Given the description of an element on the screen output the (x, y) to click on. 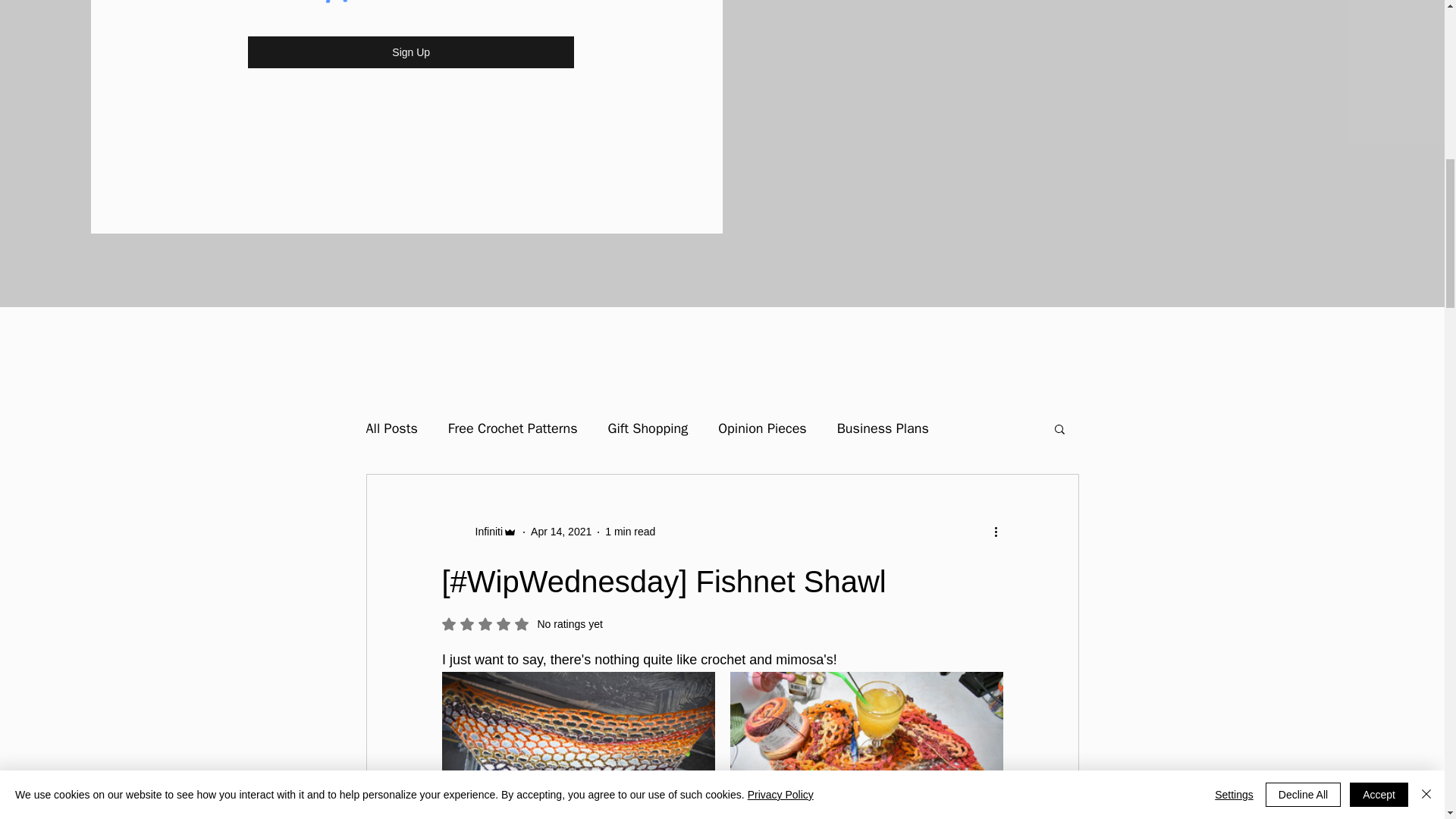
Business Plans (882, 428)
Apr 14, 2021 (561, 531)
Infiniti  (483, 531)
Sign Up (410, 51)
All Posts (390, 428)
Opinion Pieces (761, 428)
Free Crochet Patterns (513, 428)
Gift Shopping (648, 428)
1 min read (630, 531)
